Given the description of an element on the screen output the (x, y) to click on. 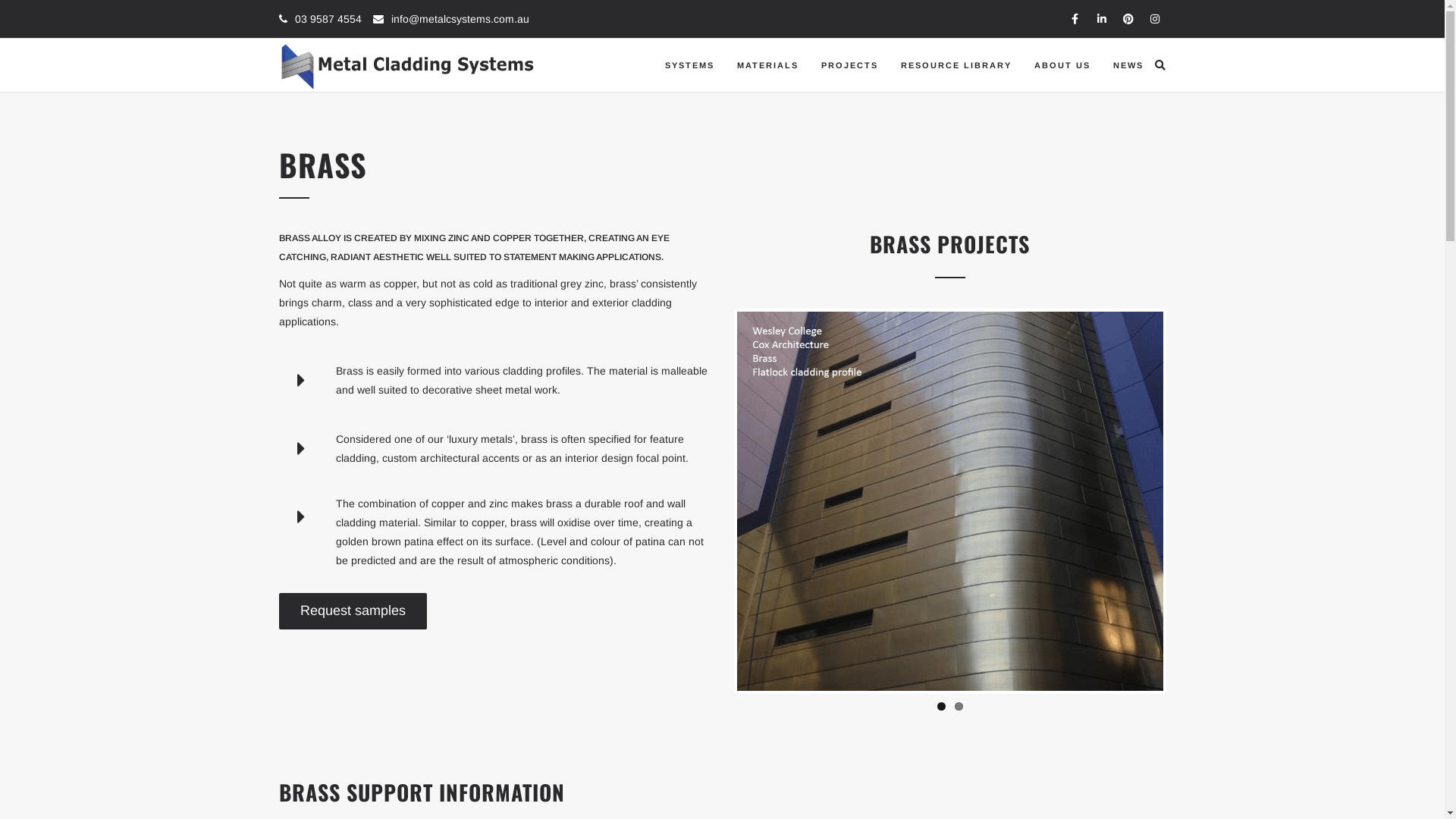
MATERIALS Element type: text (766, 64)
1 Element type: text (941, 706)
Request samples Element type: text (352, 611)
NEWS Element type: text (1127, 64)
MCS_Brass_WesleyCollege_Flatlock Element type: hover (950, 500)
MCS_Brass_WesleyCollege_Flatlock2 Element type: hover (523, 500)
2 Element type: text (957, 706)
RESOURCE LIBRARY Element type: text (955, 64)
ABOUT US Element type: text (1061, 64)
SYSTEMS Element type: text (689, 64)
info@metalcsystems.com.au Element type: text (460, 18)
PROJECTS Element type: text (849, 64)
